Given the description of an element on the screen output the (x, y) to click on. 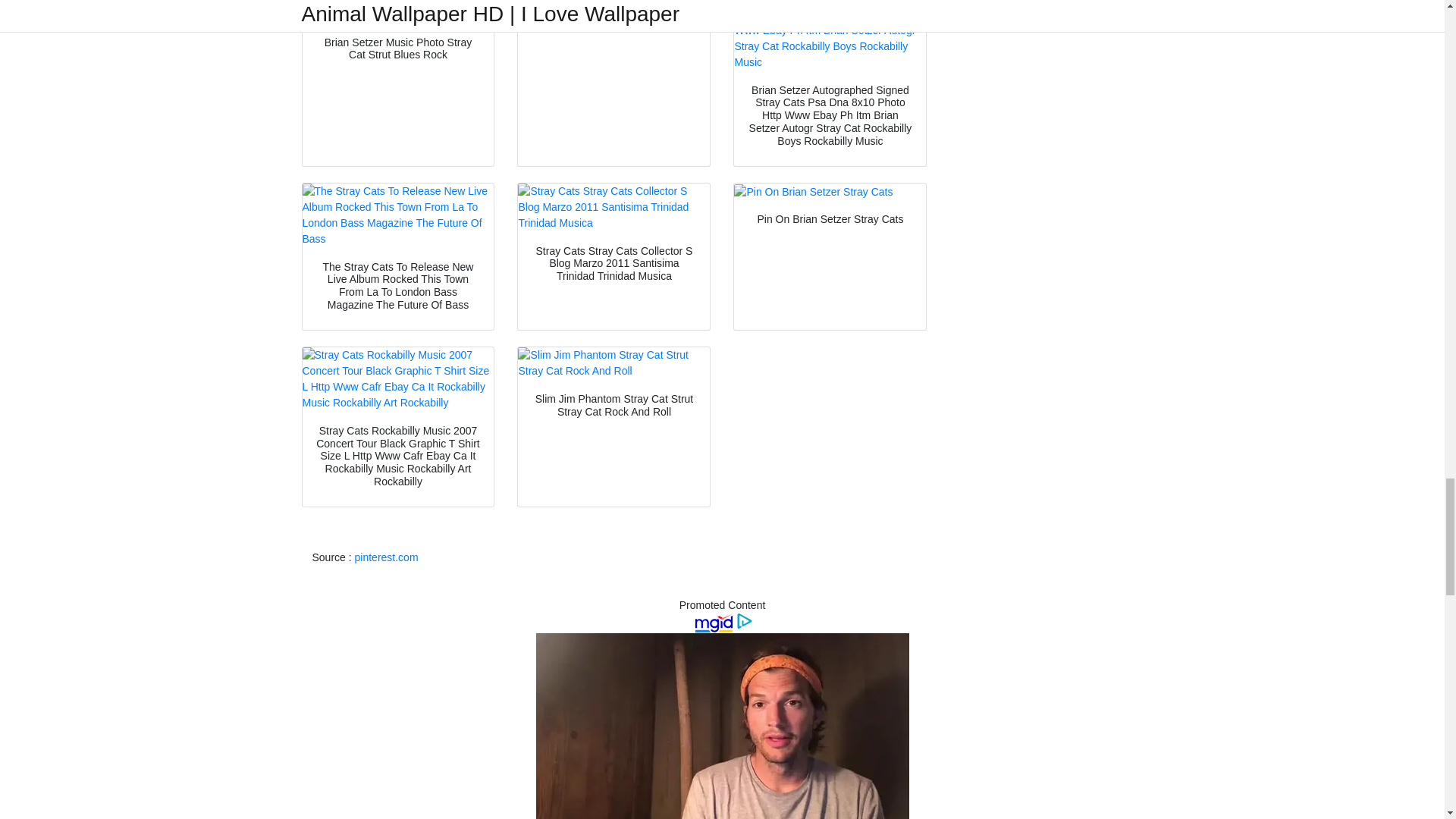
pinterest.com (387, 557)
